Given the description of an element on the screen output the (x, y) to click on. 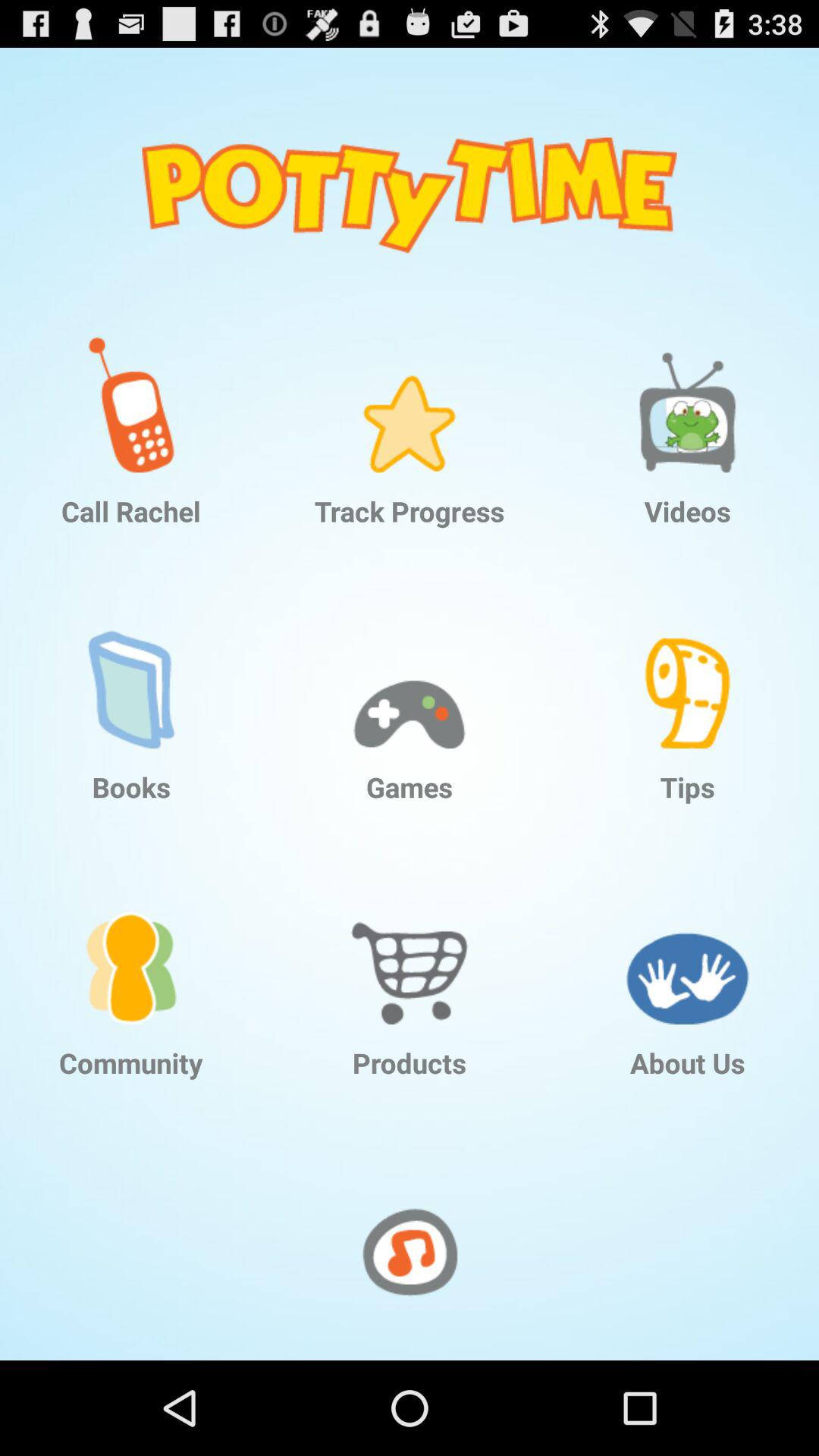
launch icon to the left of the track progress icon (131, 392)
